Given the description of an element on the screen output the (x, y) to click on. 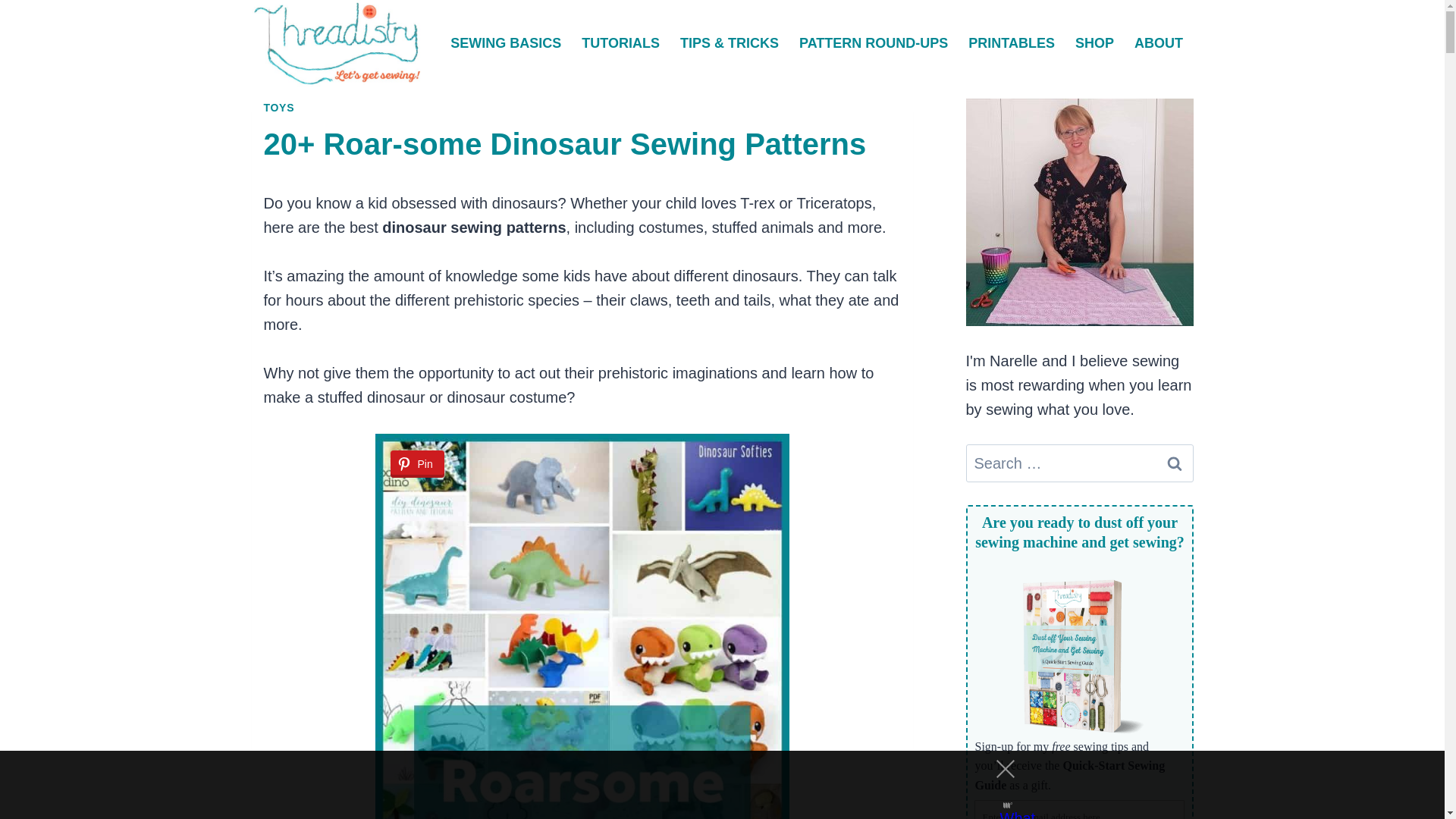
Search (1174, 463)
Pin (417, 463)
Search (1174, 463)
PATTERN ROUND-UPS (873, 43)
ABOUT (1158, 43)
PRINTABLES (1011, 43)
3rd party ad content (708, 785)
SHOP (1094, 43)
TOYS (279, 107)
SEWING BASICS (506, 43)
TUTORIALS (620, 43)
